Given the description of an element on the screen output the (x, y) to click on. 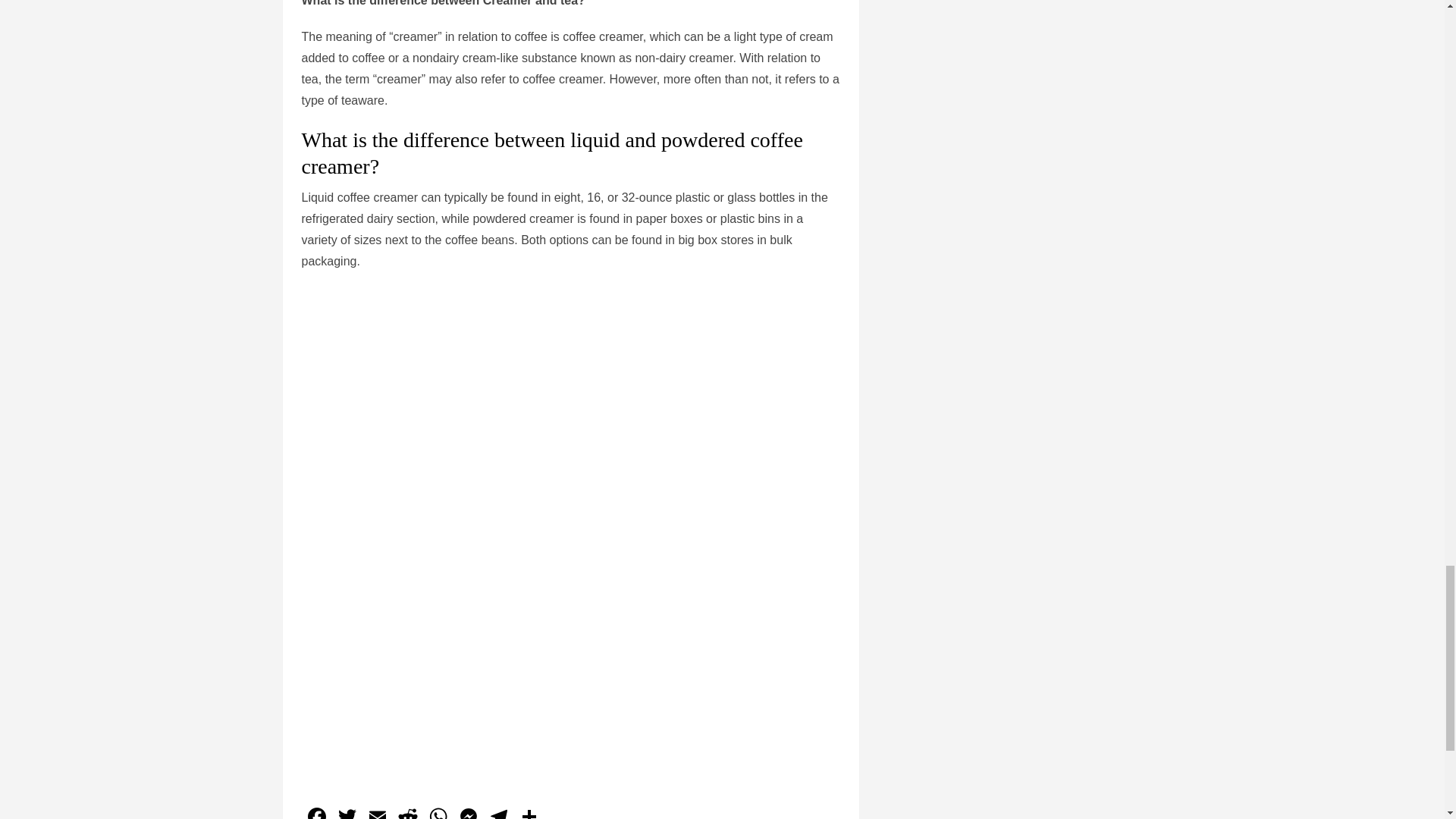
Facebook (316, 811)
Email (377, 811)
Messenger (467, 811)
Reddit (408, 811)
Twitter (346, 811)
Facebook (316, 811)
Telegram (498, 811)
WhatsApp (437, 811)
Email (377, 811)
WhatsApp (437, 811)
